Given the description of an element on the screen output the (x, y) to click on. 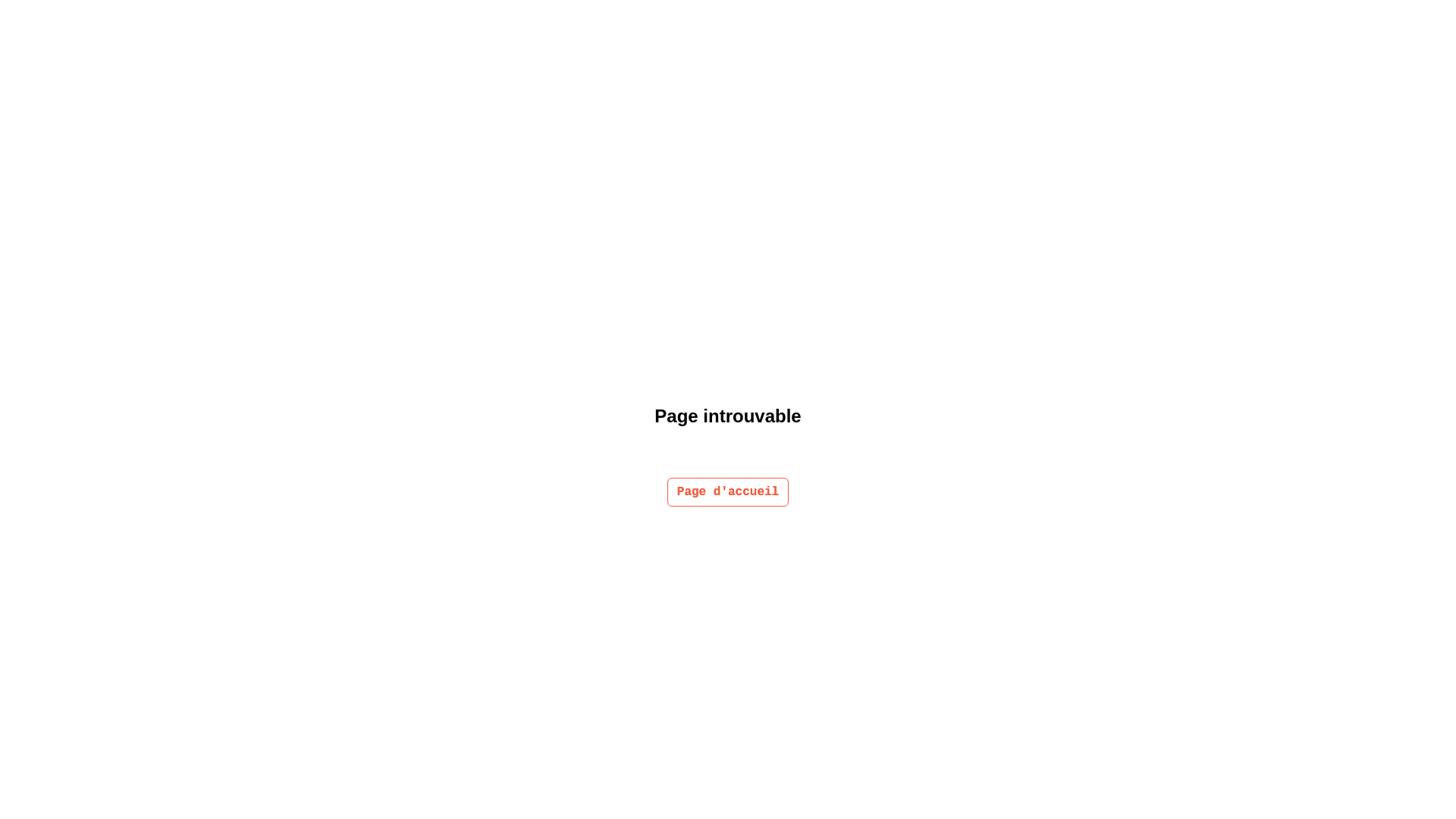
Page d'accueil Element type: text (727, 491)
